Given the description of an element on the screen output the (x, y) to click on. 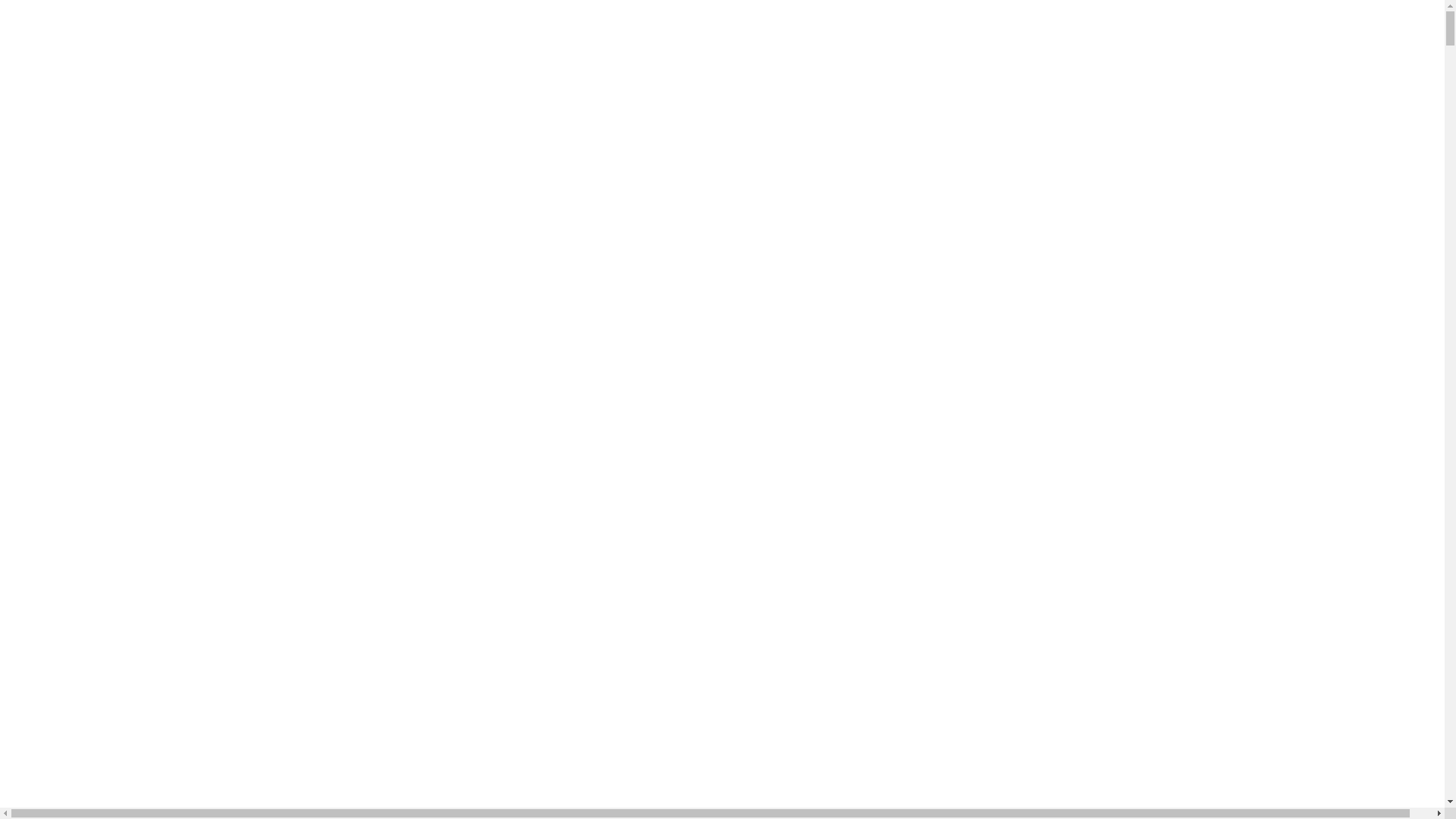
Colleen Ross Element type: text (68, 631)
Photography Element type: text (97, 454)
Barry Sher Element type: text (62, 577)
Paintings Element type: text (89, 440)
Bob Byerley Element type: text (66, 590)
Artists Element type: text (52, 508)
Gloria Coker Element type: text (68, 781)
Log in Element type: text (58, 84)
Francoise Adnet Element type: text (75, 754)
Andrew Batcheller Element type: text (82, 549)
Evgeny & Lydia Baranov Element type: text (98, 727)
Gustave Jean Jacquet Element type: text (88, 795)
info@2010gallerykc.com Element type: text (113, 31)
Anthony High Element type: text (71, 563)
Francisco Masseria Element type: text (83, 740)
Prints Element type: text (80, 467)
Harry Shultz Element type: text (67, 809)
9001 W 67th Street, Merriam, Kansas 66202 Element type: text (82, 357)
David Han Element type: text (62, 645)
Anna Dorrance Element type: text (73, 536)
Don Dane Element type: text (60, 686)
Aaron Coberly Element type: text (72, 522)
Dmitry Shvetzov Element type: text (77, 672)
Cart
: 0 Element type: text (737, 97)
Sculptures Element type: text (92, 481)
Dick Hopkins Element type: text (69, 658)
Home Element type: text (50, 413)
Mixed Media Element type: text (99, 495)
Fritz Kramer Element type: text (67, 768)
Create account Element type: text (122, 84)
Ellen Likens Element type: text (66, 713)
Chris Likens Element type: text (67, 617)
Our Collection Element type: text (72, 426)
Charles Gesmar Element type: text (75, 604)
